Given the description of an element on the screen output the (x, y) to click on. 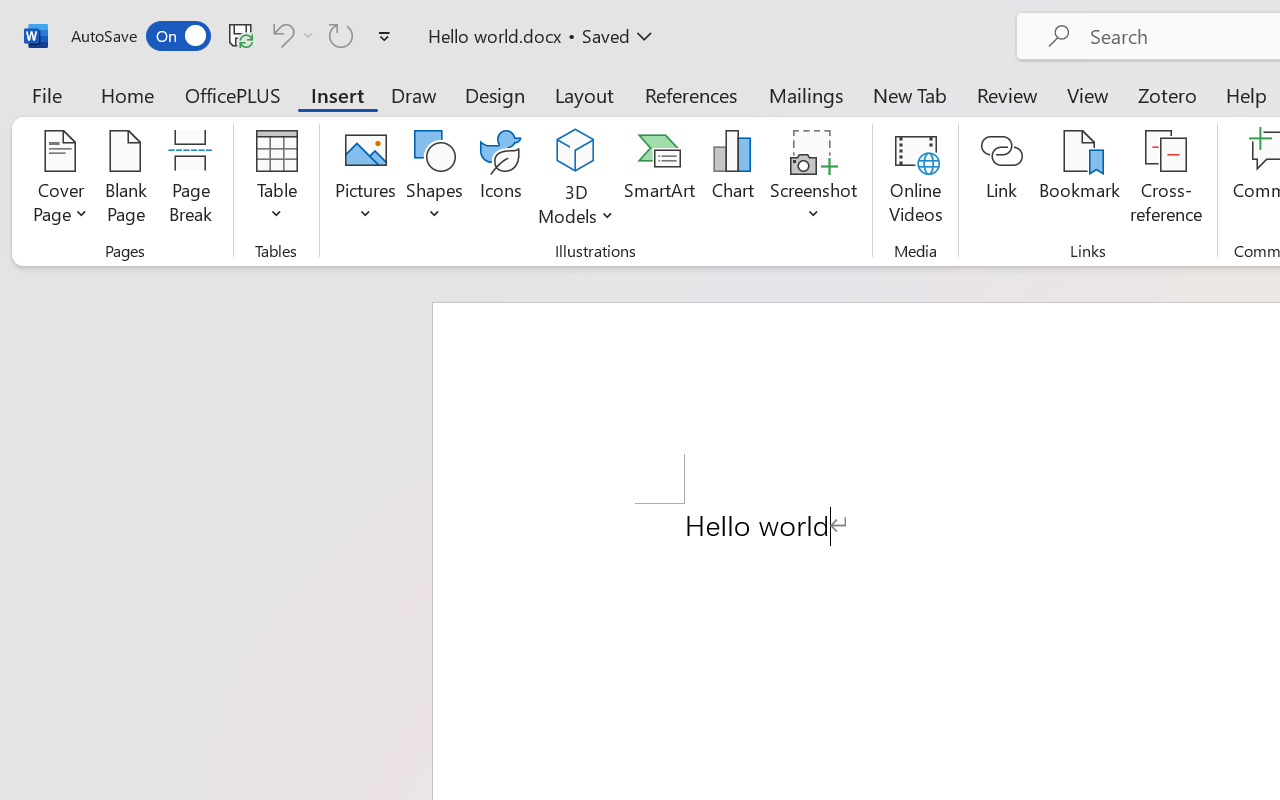
Save (241, 35)
New Tab (909, 94)
Home (127, 94)
Blank Page (125, 179)
Draw (413, 94)
Quick Access Toolbar (233, 36)
Review (1007, 94)
Can't Undo (280, 35)
Mailings (806, 94)
View (1087, 94)
Can't Undo (290, 35)
Customize Quick Access Toolbar (384, 35)
Pictures (365, 179)
Bookmark... (1079, 179)
